Given the description of an element on the screen output the (x, y) to click on. 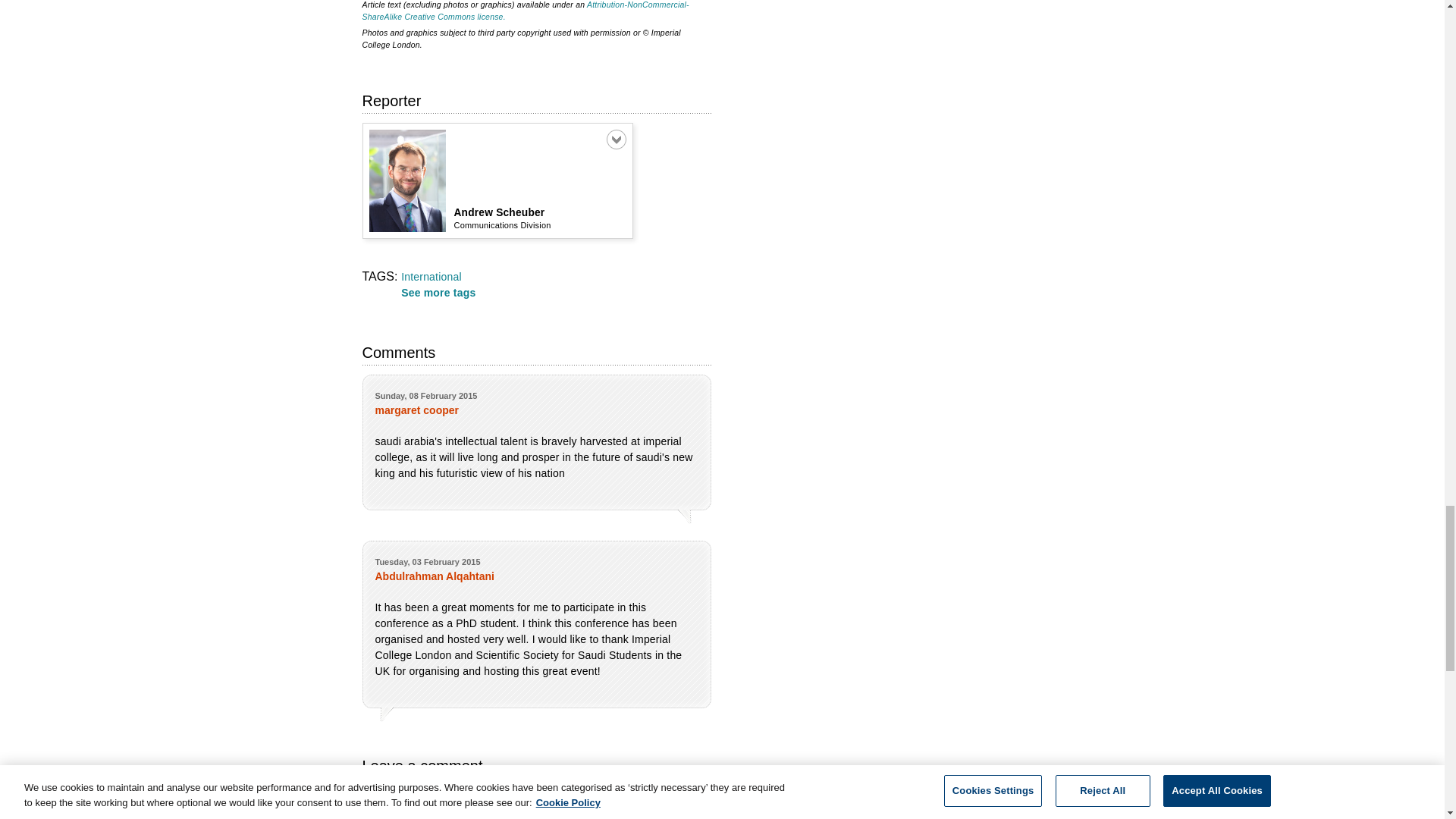
Click to expand or contract (616, 139)
International (431, 276)
See more tags (438, 292)
